Given the description of an element on the screen output the (x, y) to click on. 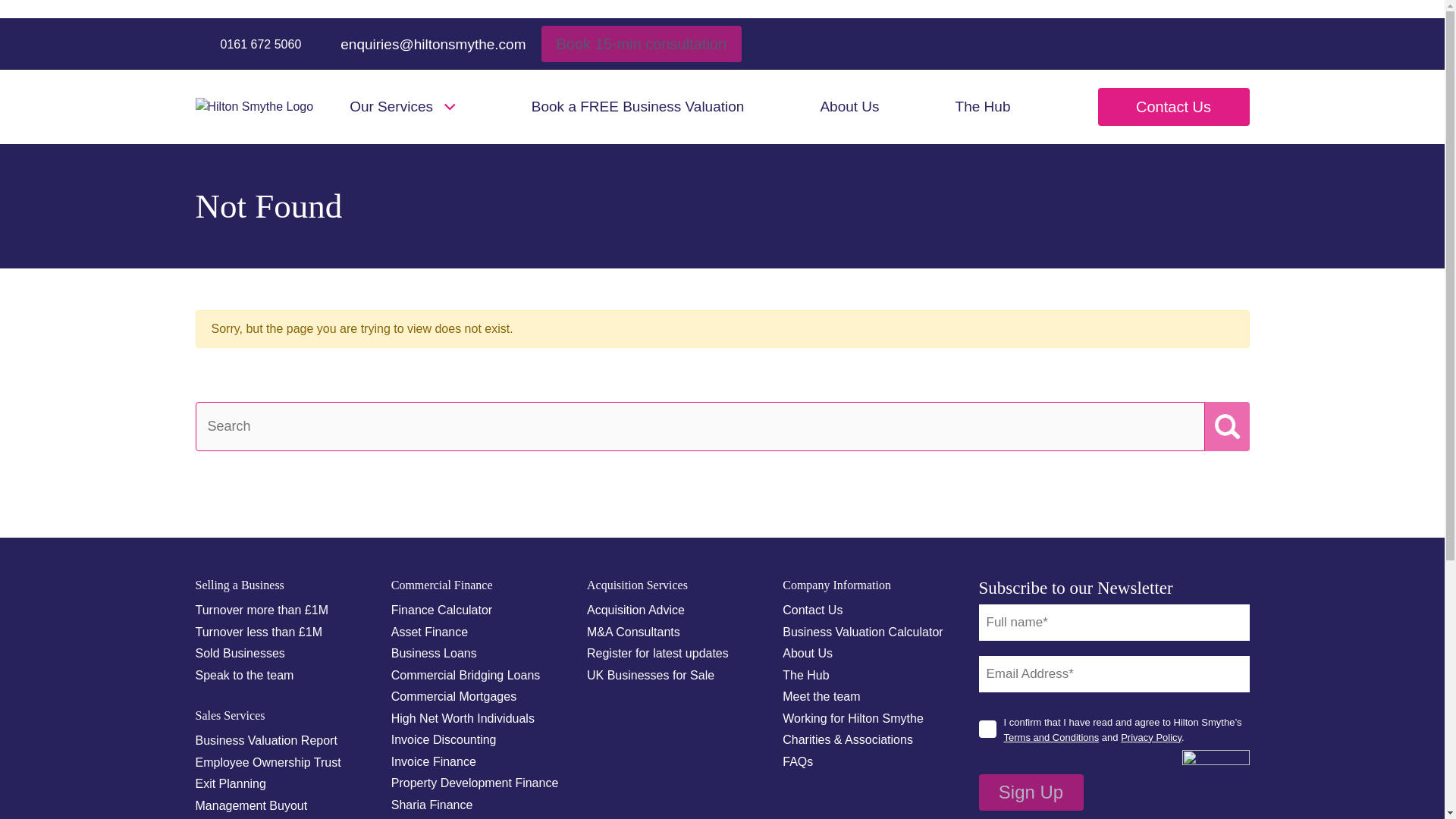
About Us (849, 106)
The Hub (982, 106)
0161 672 5060 (248, 43)
1 (986, 728)
Sign Up (1030, 791)
Book 15-min consultation (641, 43)
Book a FREE Business Valuation (637, 106)
Our Services (402, 106)
Contact Us (1173, 106)
